Given the description of an element on the screen output the (x, y) to click on. 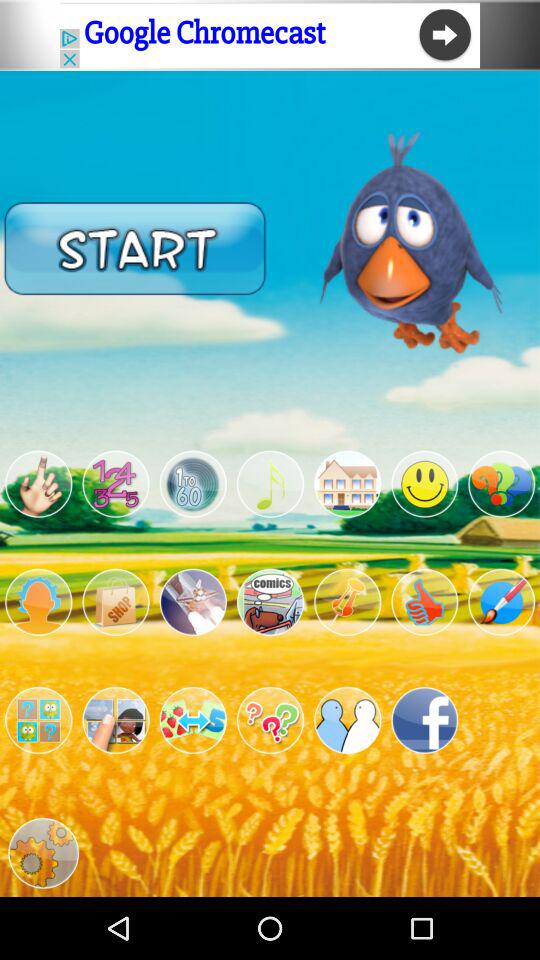
play game mode (270, 602)
